Given the description of an element on the screen output the (x, y) to click on. 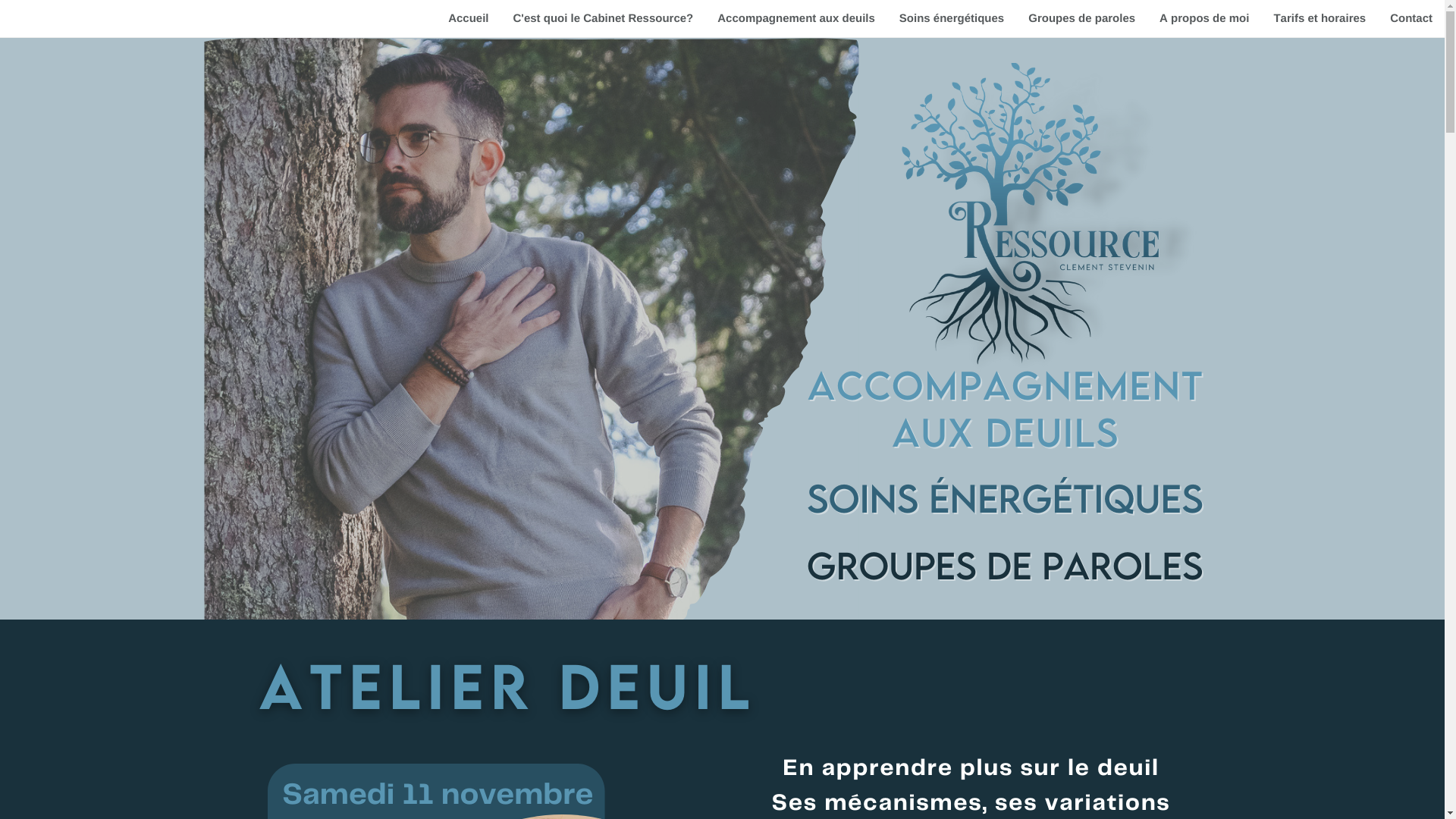
Groupes de paroles Element type: text (1081, 18)
C'est quoi le Cabinet Ressource? Element type: text (602, 18)
Accompagnement aux deuils Element type: text (796, 18)
Contact Element type: text (1410, 18)
A propos de moi Element type: text (1204, 18)
Tarifs et horaires Element type: text (1319, 18)
Accueil Element type: text (468, 18)
